Given the description of an element on the screen output the (x, y) to click on. 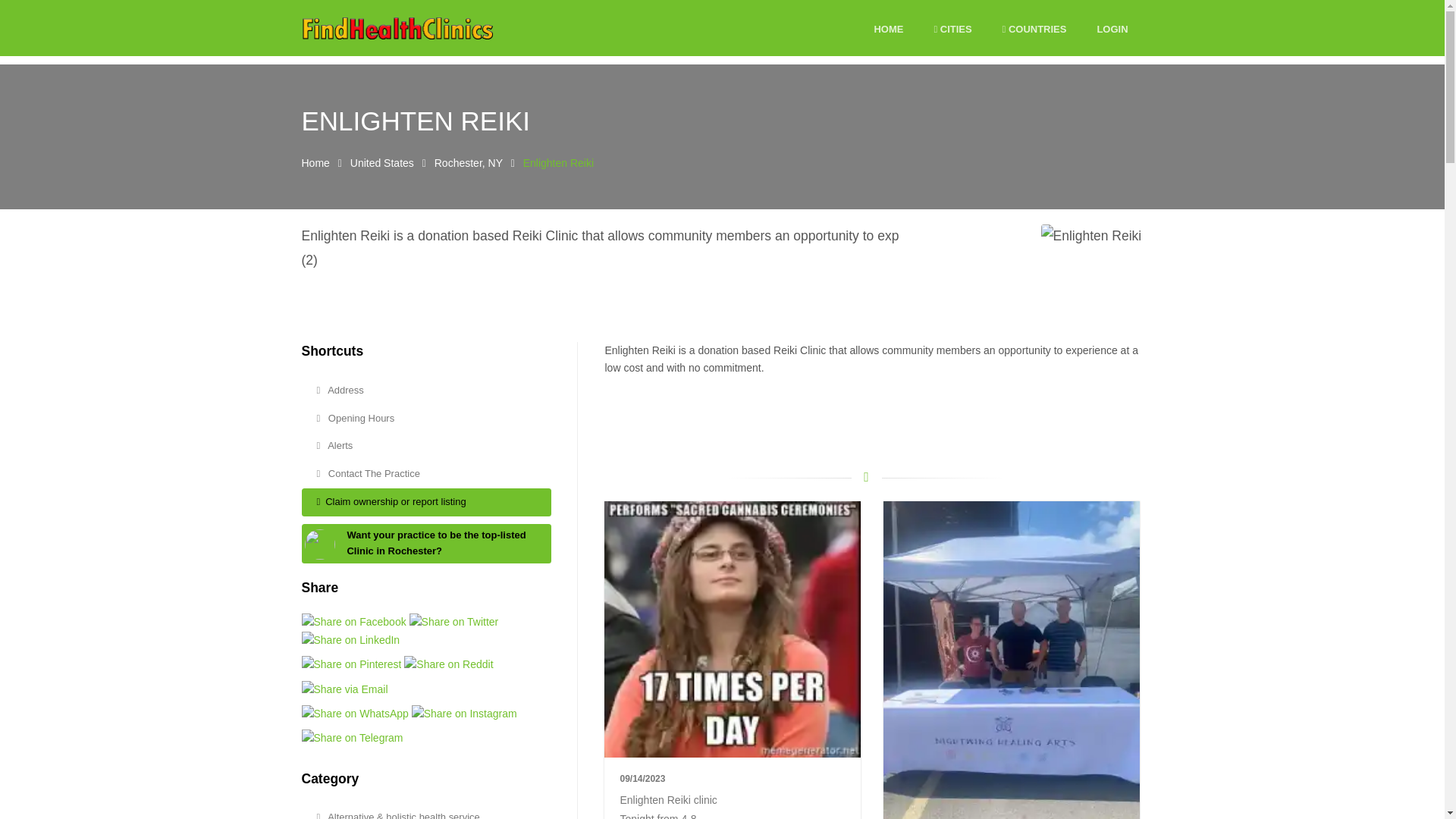
CITIES (952, 29)
Address (426, 390)
United States (381, 162)
Contact The Practice (426, 474)
Claim ownership or report listing (426, 502)
HOME (887, 29)
Want your practice to be the top-listed Clinic in Rochester? (435, 542)
Opening Hours (426, 418)
Home (315, 162)
Alerts (426, 446)
